Given the description of an element on the screen output the (x, y) to click on. 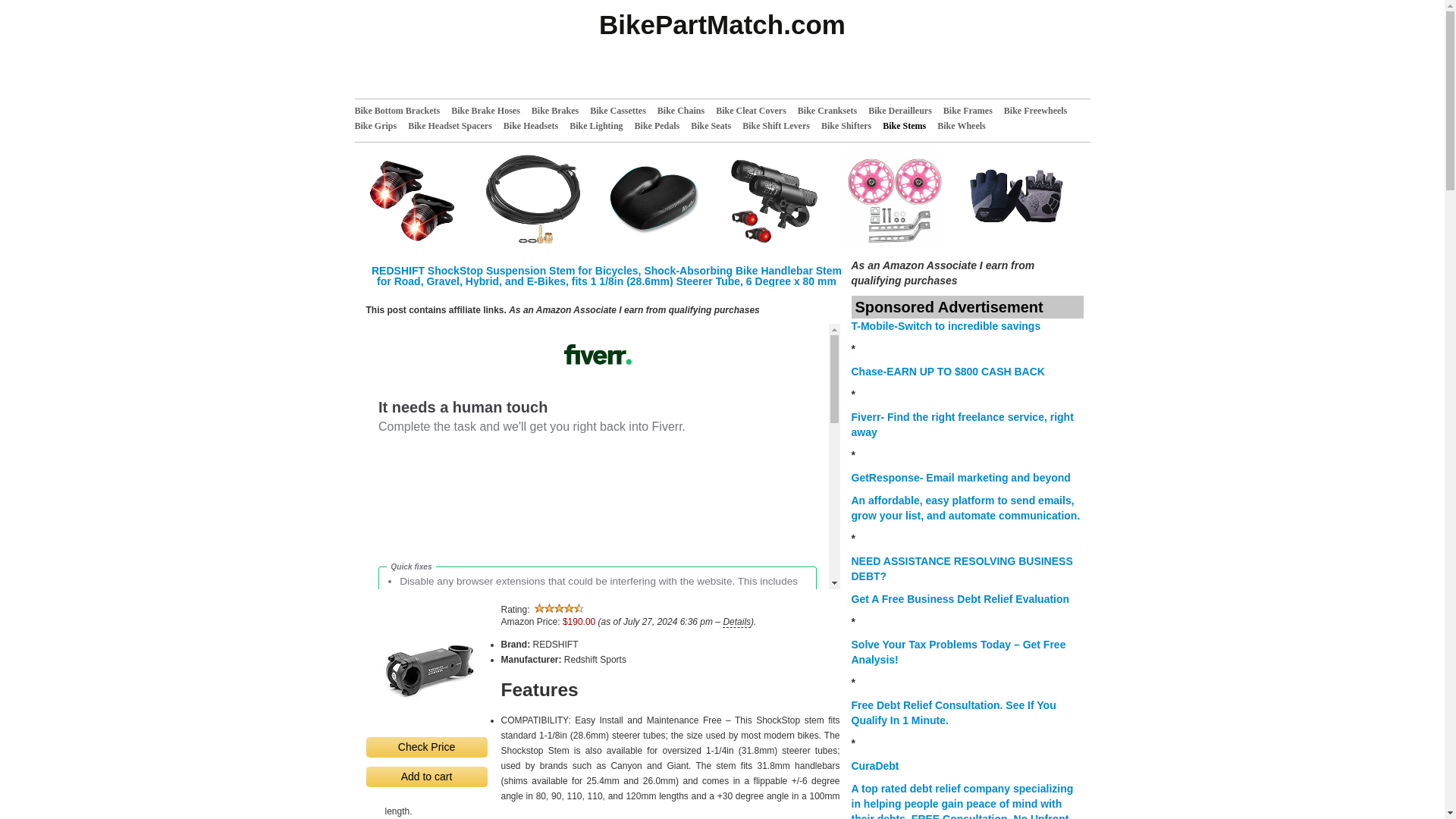
Get A Free Business Debt Relief Evaluation (959, 598)
BikePartMatch.com (722, 49)
Bike Pedals (662, 125)
Bike Grips (382, 125)
Bike Bottom Brackets (403, 110)
Bike Cranksets (832, 110)
Bike Derailleurs (905, 110)
Bike Cleat Covers (756, 110)
Bike Chains (687, 110)
Bike Stems (909, 125)
T-Mobile-Switch to incredible savings  (946, 326)
Bike Headsets (536, 125)
GetResponse- Email marketing and beyond (960, 477)
Check Price (425, 747)
Bike Brakes (560, 110)
